Given the description of an element on the screen output the (x, y) to click on. 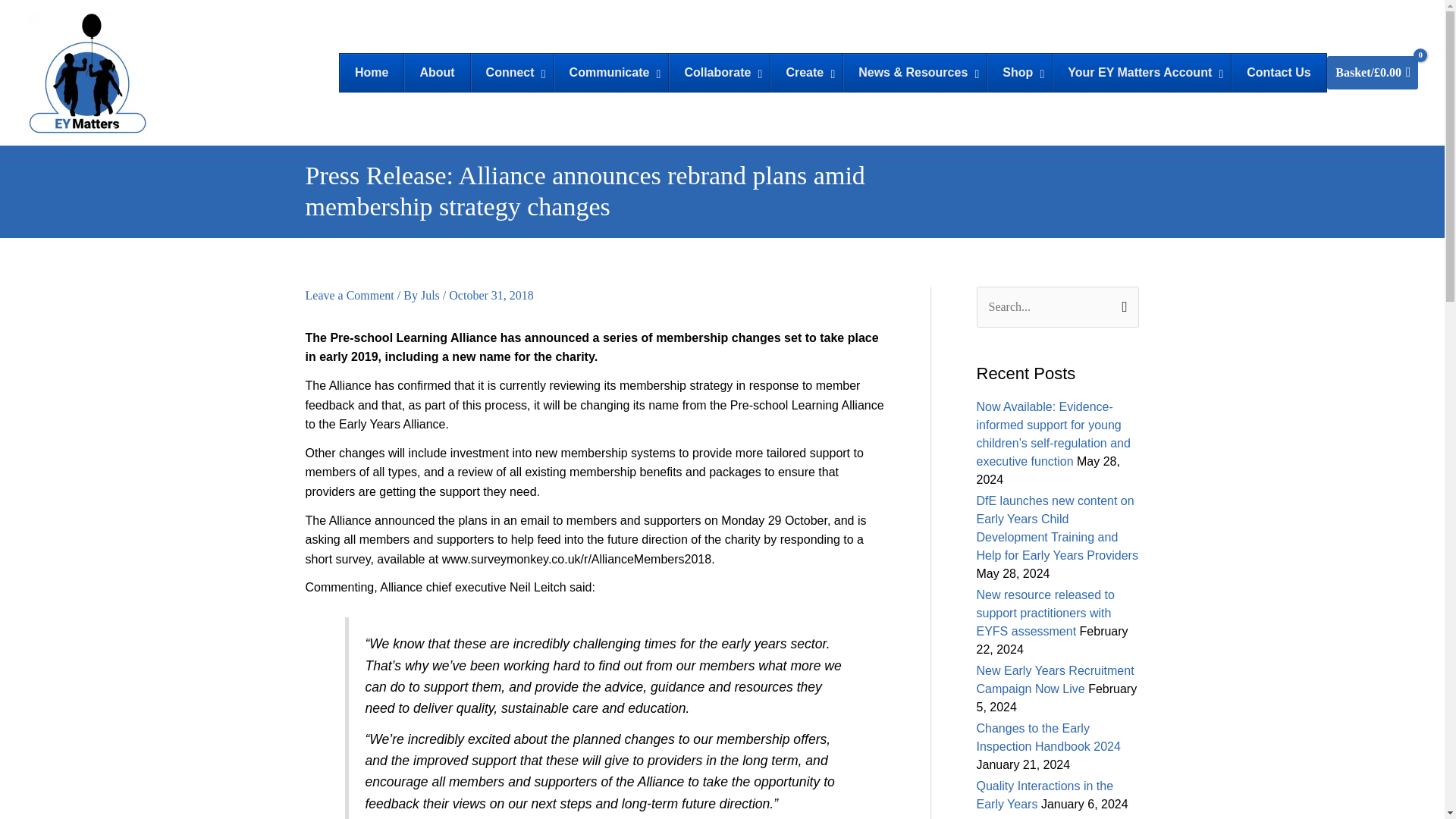
About (435, 73)
Home (371, 73)
Connect (511, 73)
Communicate (610, 73)
View all posts by Juls (431, 295)
Create (806, 73)
Collaborate (719, 73)
